Given the description of an element on the screen output the (x, y) to click on. 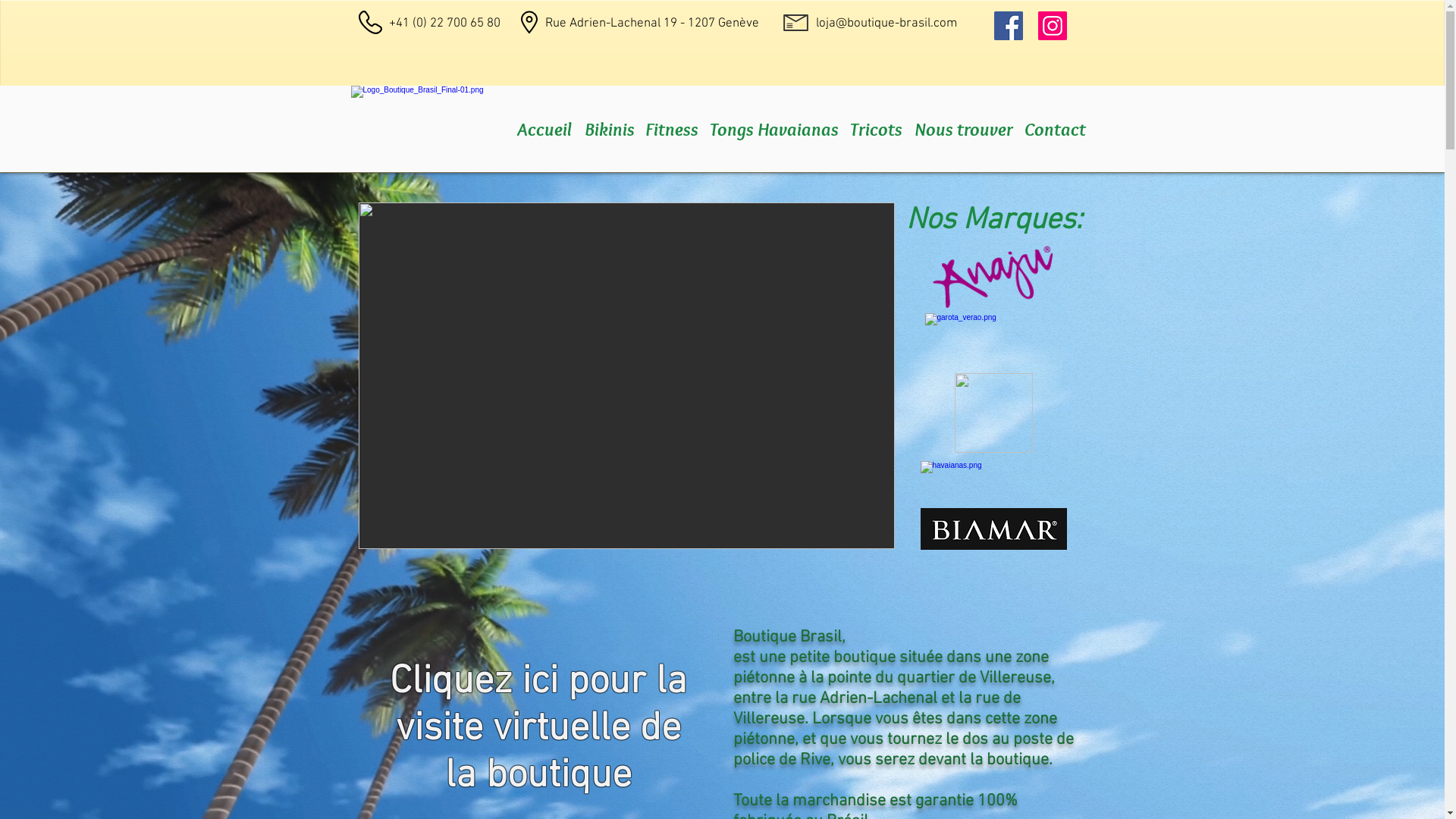
loja@boutique-brasil.com Element type: text (886, 23)
Tricots Element type: text (875, 128)
Fitness Element type: text (670, 128)
Bikinis Element type: text (608, 128)
Contact Element type: text (1054, 128)
Nous trouver Element type: text (963, 128)
Accueil Element type: text (543, 128)
+41 (0) 22 700 65 80 Element type: text (443, 23)
Tongs Havaianas Element type: text (773, 128)
Cliquez ici pour la visite virtuelle de la boutique Element type: text (538, 729)
